Given the description of an element on the screen output the (x, y) to click on. 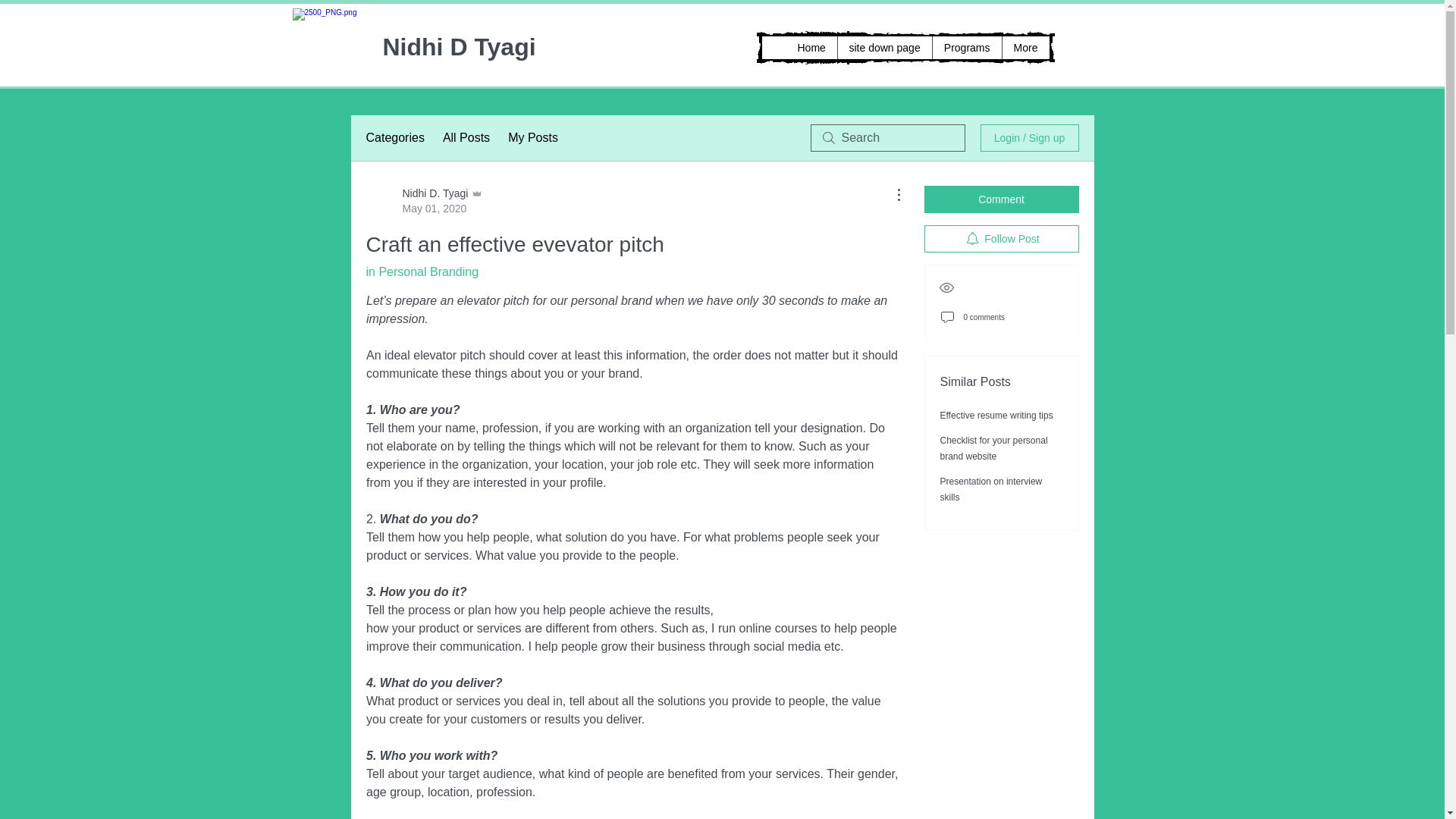
All Posts (465, 137)
Checklist for your personal brand website (994, 447)
in Personal Branding (422, 271)
site down page (884, 47)
Follow Post (1000, 238)
Comment (1000, 198)
Categories (394, 137)
My Posts (532, 137)
Home (810, 47)
Effective resume writing tips (996, 415)
Programs (966, 47)
Presentation on interview skills (991, 488)
